Given the description of an element on the screen output the (x, y) to click on. 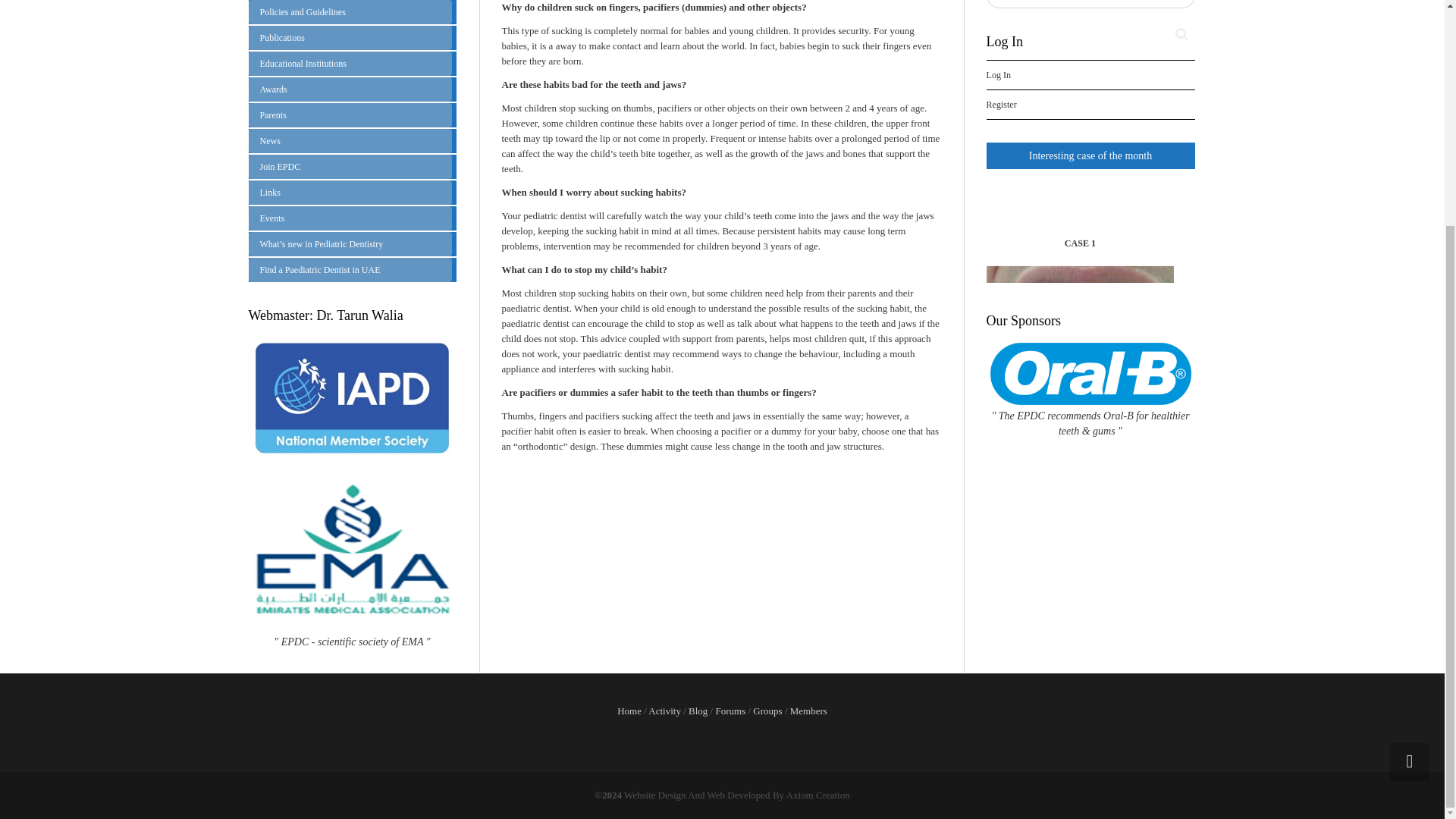
Parents (349, 115)
axiom creation (818, 794)
Awards (349, 88)
Search (1181, 34)
Website Development Company (740, 794)
Educational Institutions (349, 63)
Policies and Guidelines (349, 12)
Website Designing Company (655, 794)
Publications (349, 37)
